Given the description of an element on the screen output the (x, y) to click on. 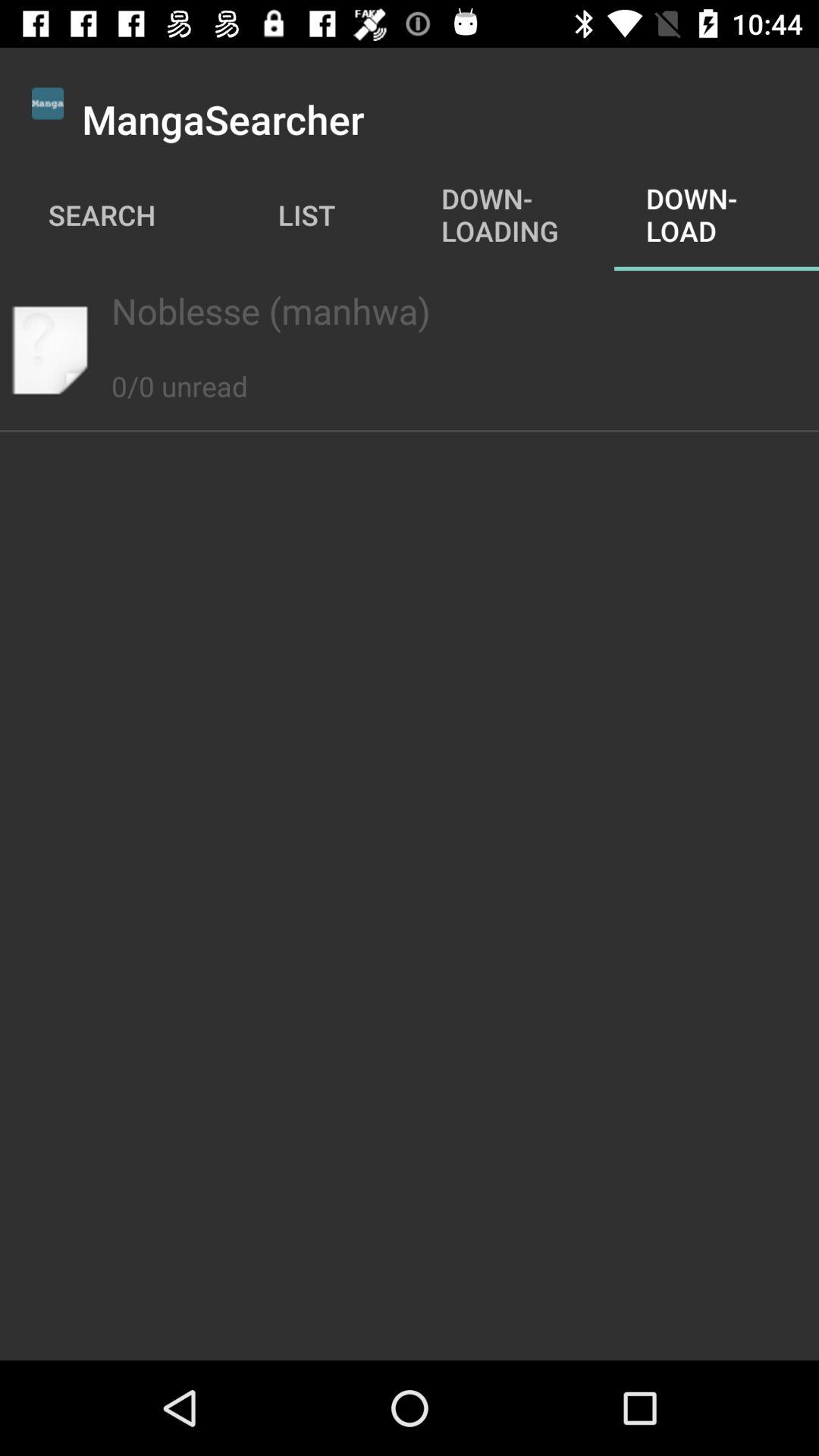
open the 
0/0 unread (179, 369)
